Given the description of an element on the screen output the (x, y) to click on. 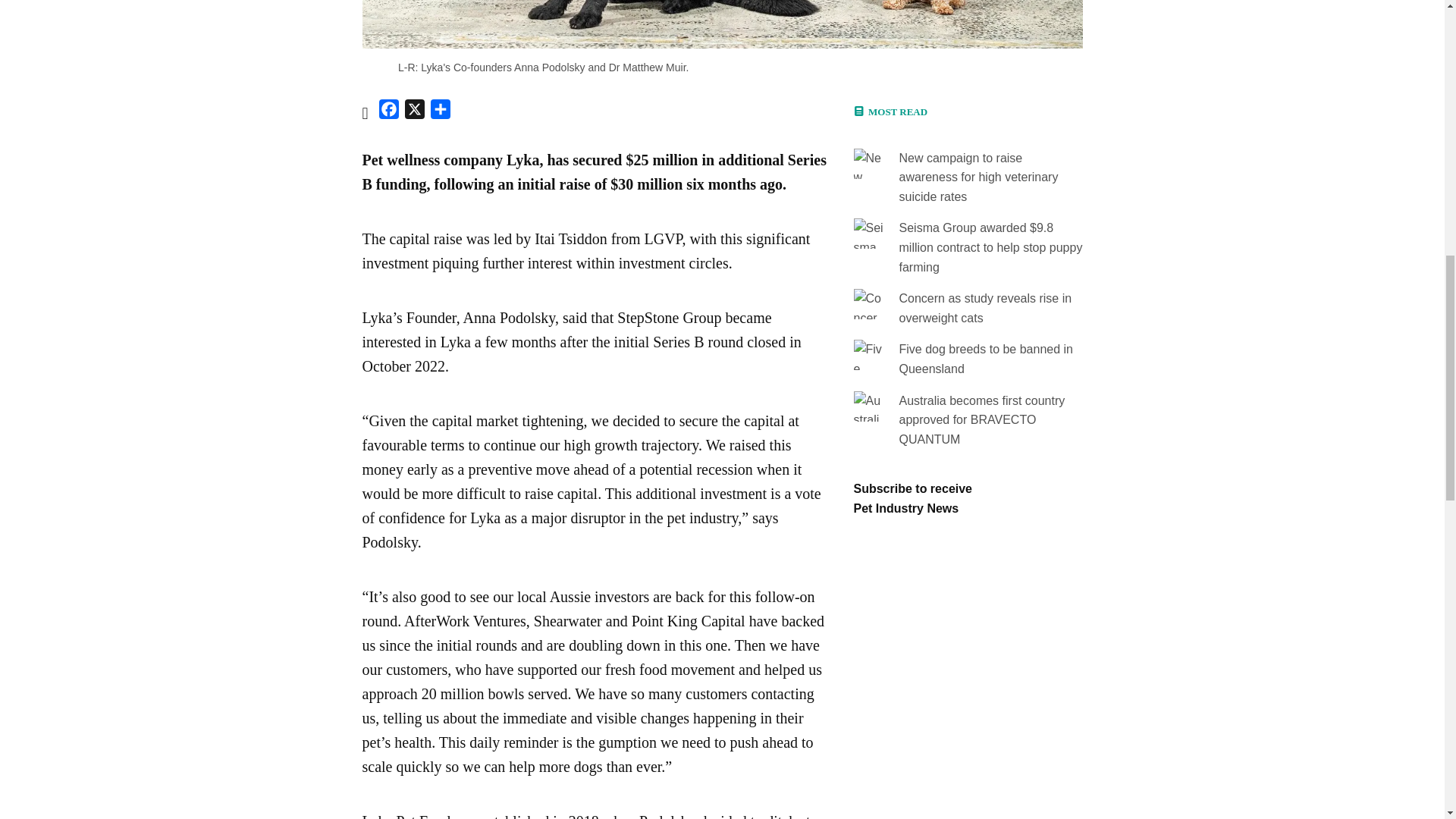
Five dog breeds to be banned in Queensland (986, 359)
Facebook (388, 112)
Share (440, 112)
X (414, 112)
Concern as study reveals rise in overweight cats (985, 307)
Facebook (388, 112)
X (414, 112)
